Given the description of an element on the screen output the (x, y) to click on. 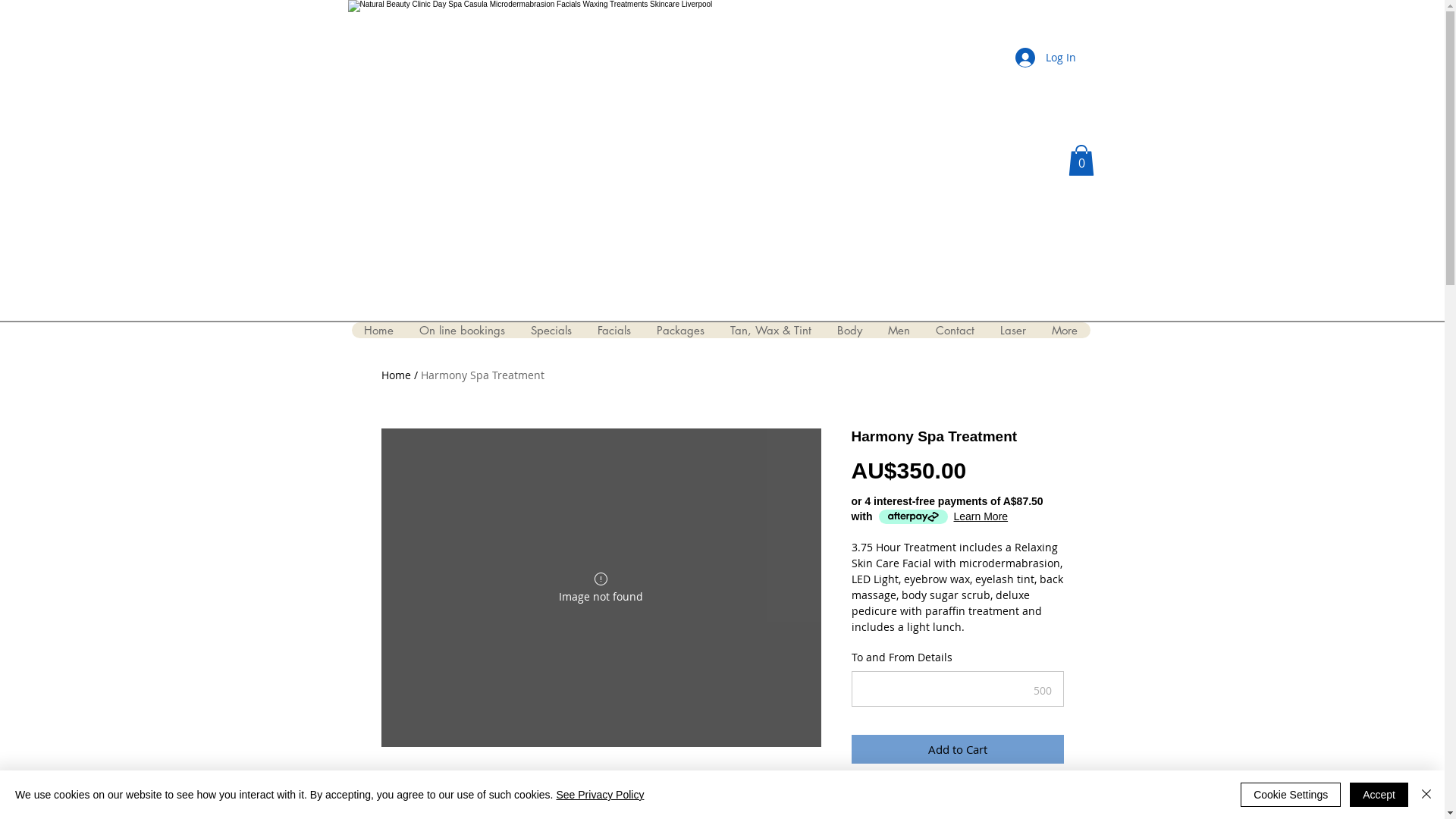
Add to Cart Element type: text (956, 749)
Harmony Spa Treatment Element type: text (481, 374)
Learn More Element type: text (980, 516)
Men Element type: text (898, 330)
Body Element type: text (848, 330)
Facials Element type: text (613, 330)
On line bookings Element type: text (461, 330)
Tan, Wax & Tint Element type: text (770, 330)
0 Element type: text (1080, 159)
Specials Element type: text (550, 330)
Accept Element type: text (1378, 794)
Contact Element type: text (954, 330)
See Privacy Policy Element type: text (599, 794)
Home Element type: text (378, 330)
Home Element type: text (395, 374)
Cookie Settings Element type: text (1290, 794)
Log In Element type: text (1044, 57)
Laser Element type: text (1012, 330)
Packages Element type: text (679, 330)
